Given the description of an element on the screen output the (x, y) to click on. 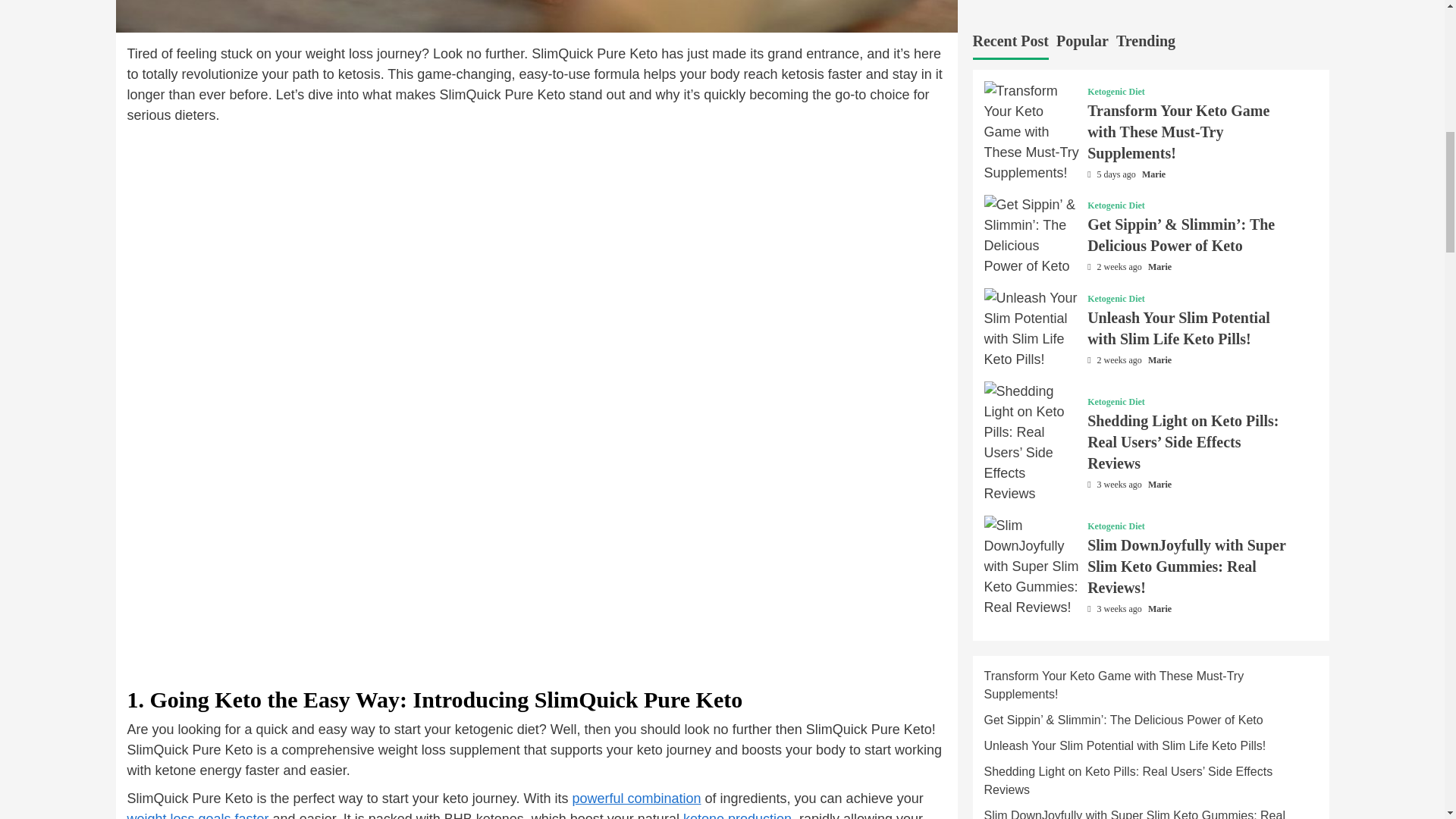
ketone production (737, 815)
powerful combination (636, 798)
weight loss goals faster (198, 815)
Lose Weight Fast with Slimquick Pure Keto! (198, 815)
Keto Supplements: Unlock Your Health Potential! (636, 798)
